Given the description of an element on the screen output the (x, y) to click on. 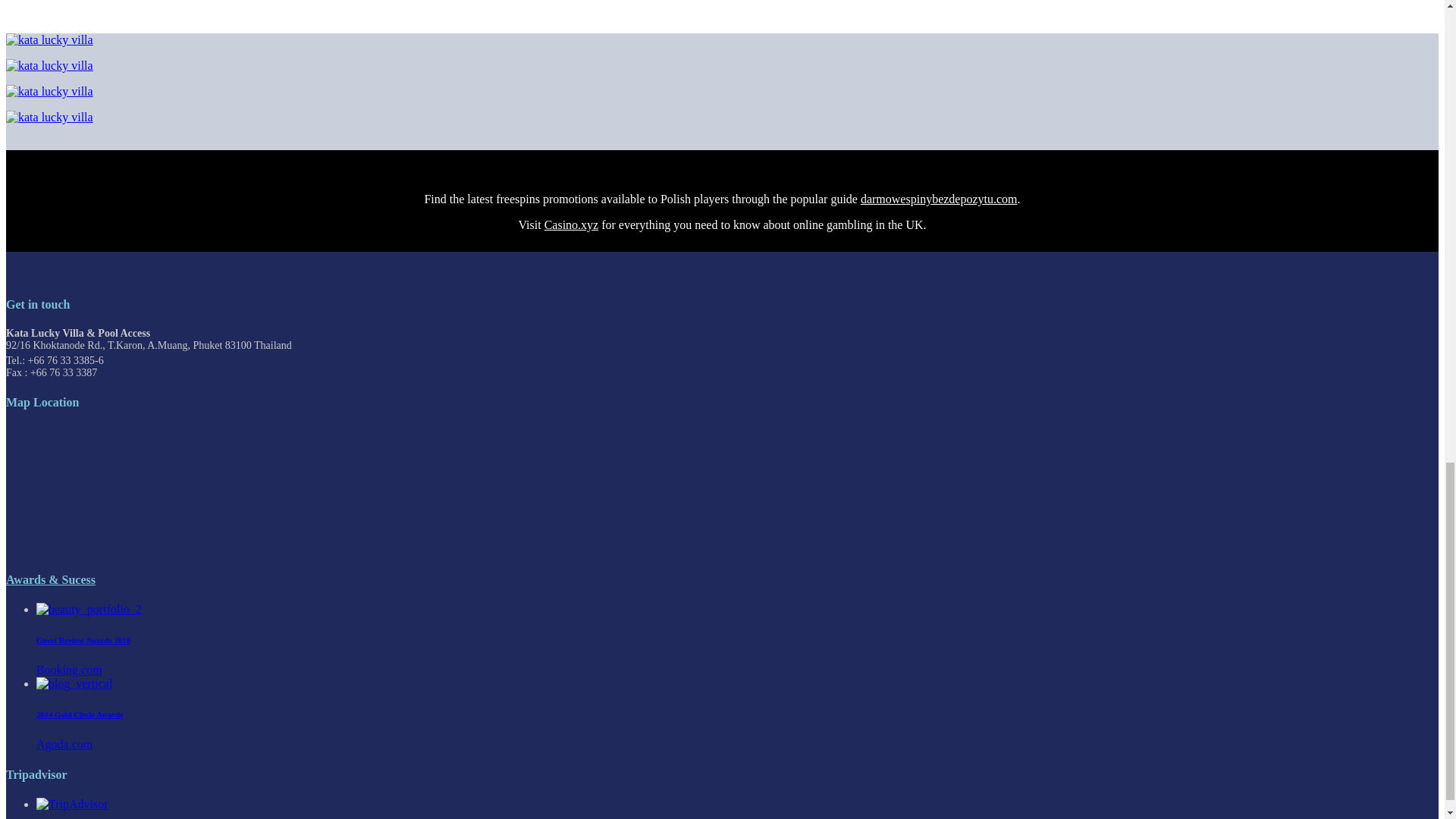
Casino.xyz (571, 224)
darmowespinybezdepozytu.com (938, 198)
